Given the description of an element on the screen output the (x, y) to click on. 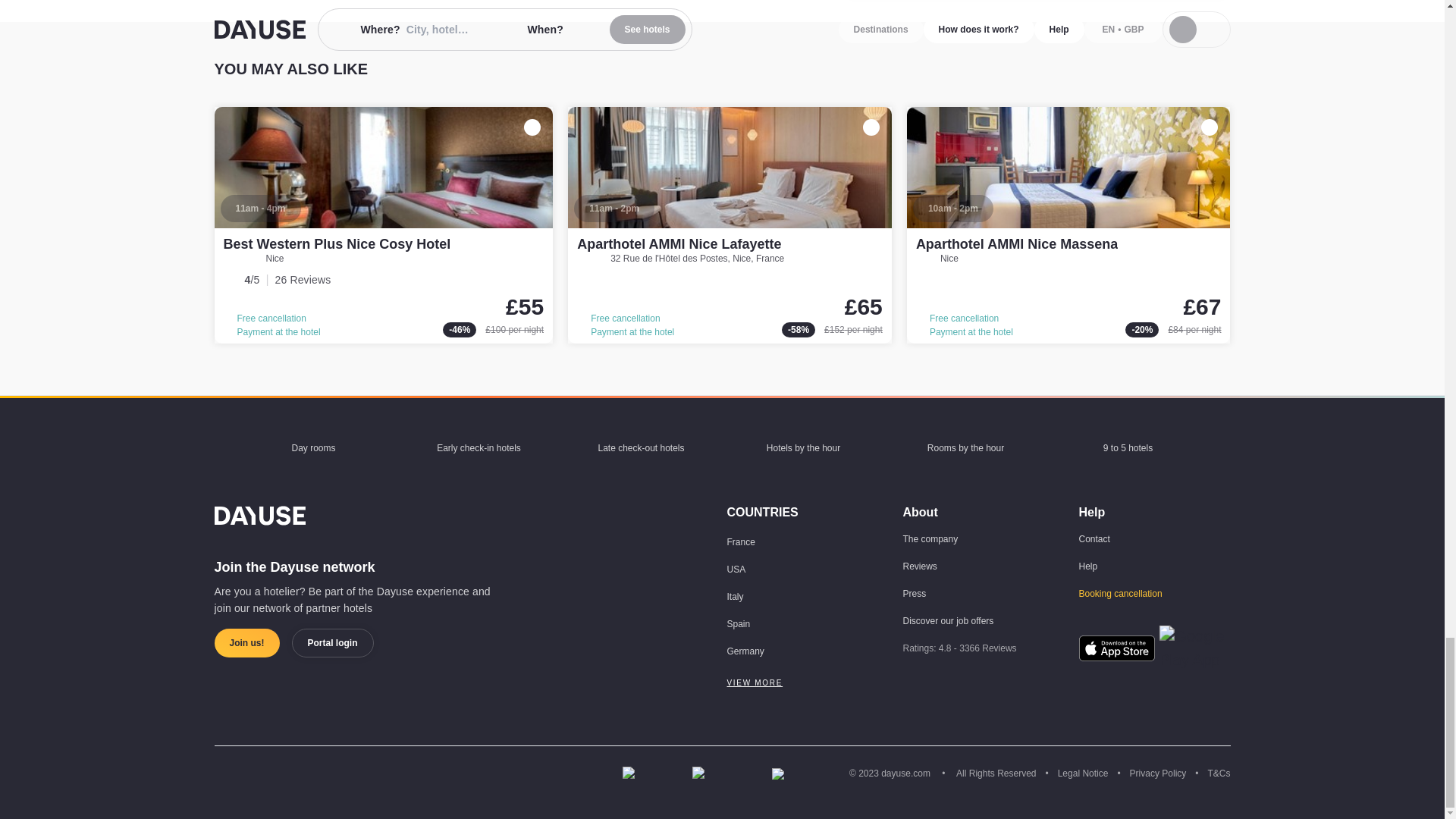
Best Western Plus Nice Cosy Hotel (335, 243)
Aparthotel AMMI Nice Lafayette (678, 243)
Best Western Plus Nice Cosy Hotel (383, 225)
Aparthotel AMMI Nice Massena (1068, 225)
Aparthotel AMMI Nice Massena (1016, 243)
Aparthotel AMMI Nice Lafayette (729, 225)
